Given the description of an element on the screen output the (x, y) to click on. 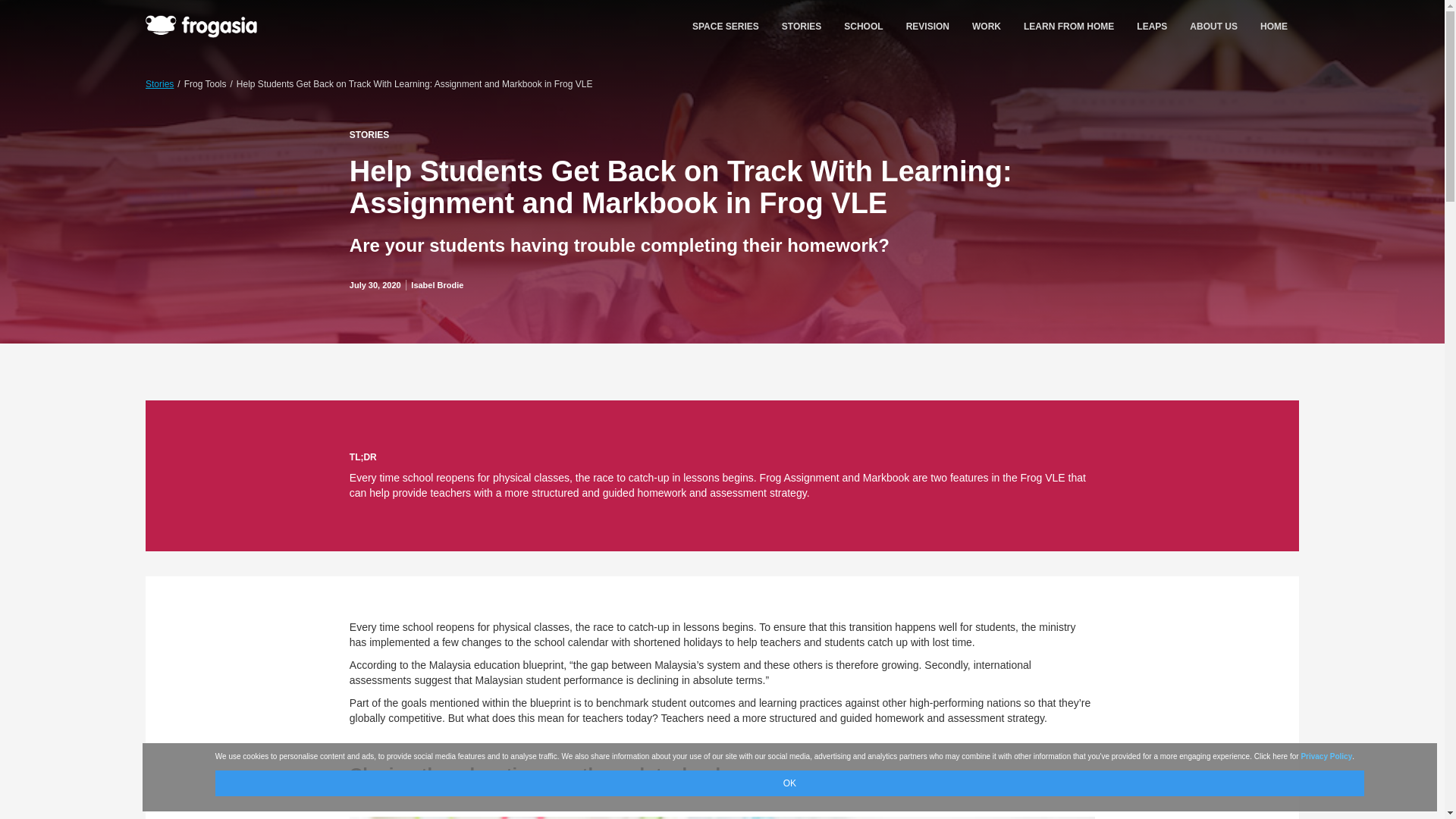
REVISION (927, 26)
Stories (159, 83)
ABOUT US (1213, 26)
SCHOOL (862, 26)
STORIES (801, 26)
WORK (985, 26)
HOME (1273, 26)
LEAPS (1151, 26)
SPACE SERIES (725, 26)
LEARN FROM HOME (1068, 26)
